Given the description of an element on the screen output the (x, y) to click on. 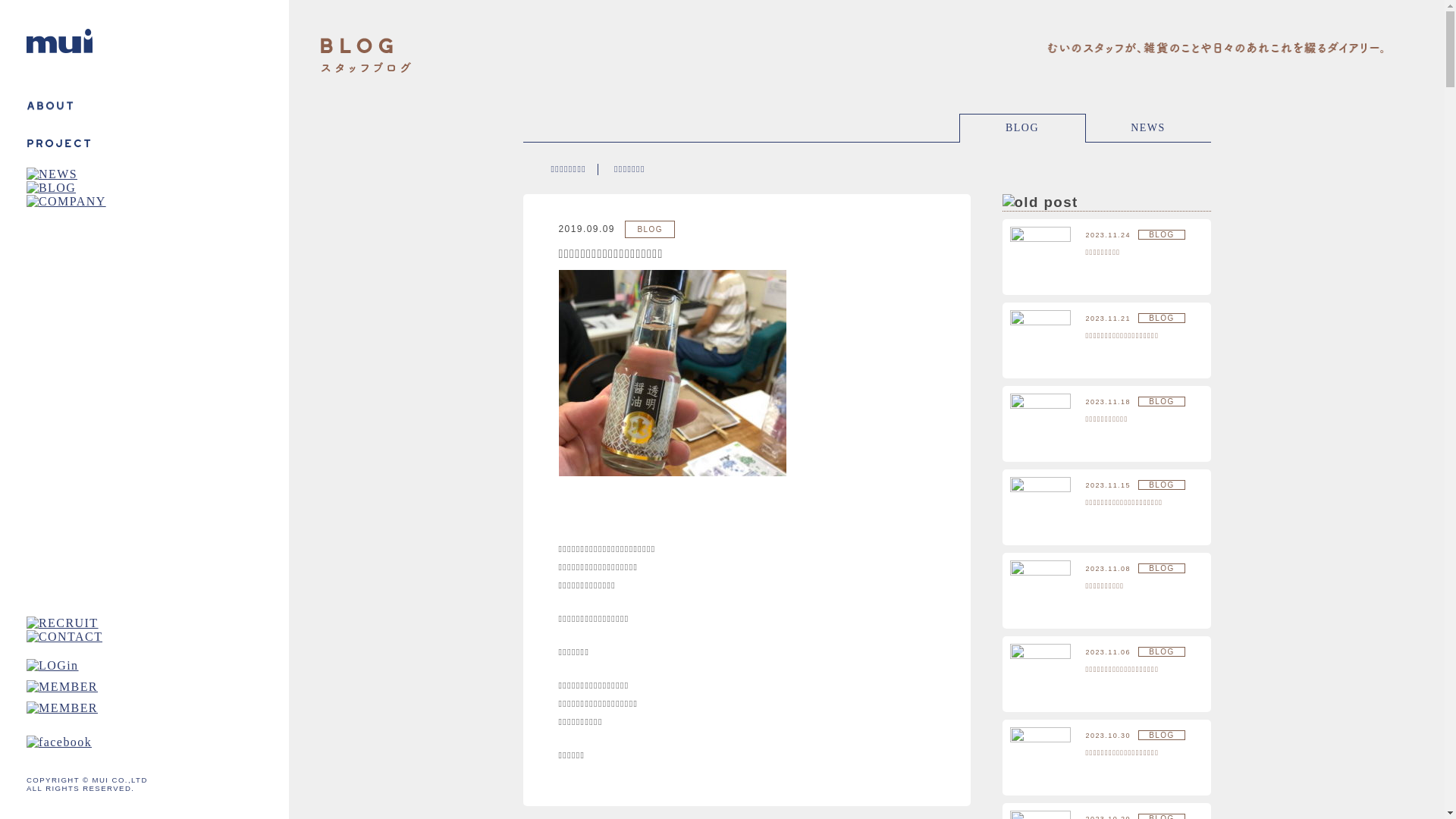
NEWS Element type: text (1148, 127)
BLOG Element type: text (1022, 127)
